Given the description of an element on the screen output the (x, y) to click on. 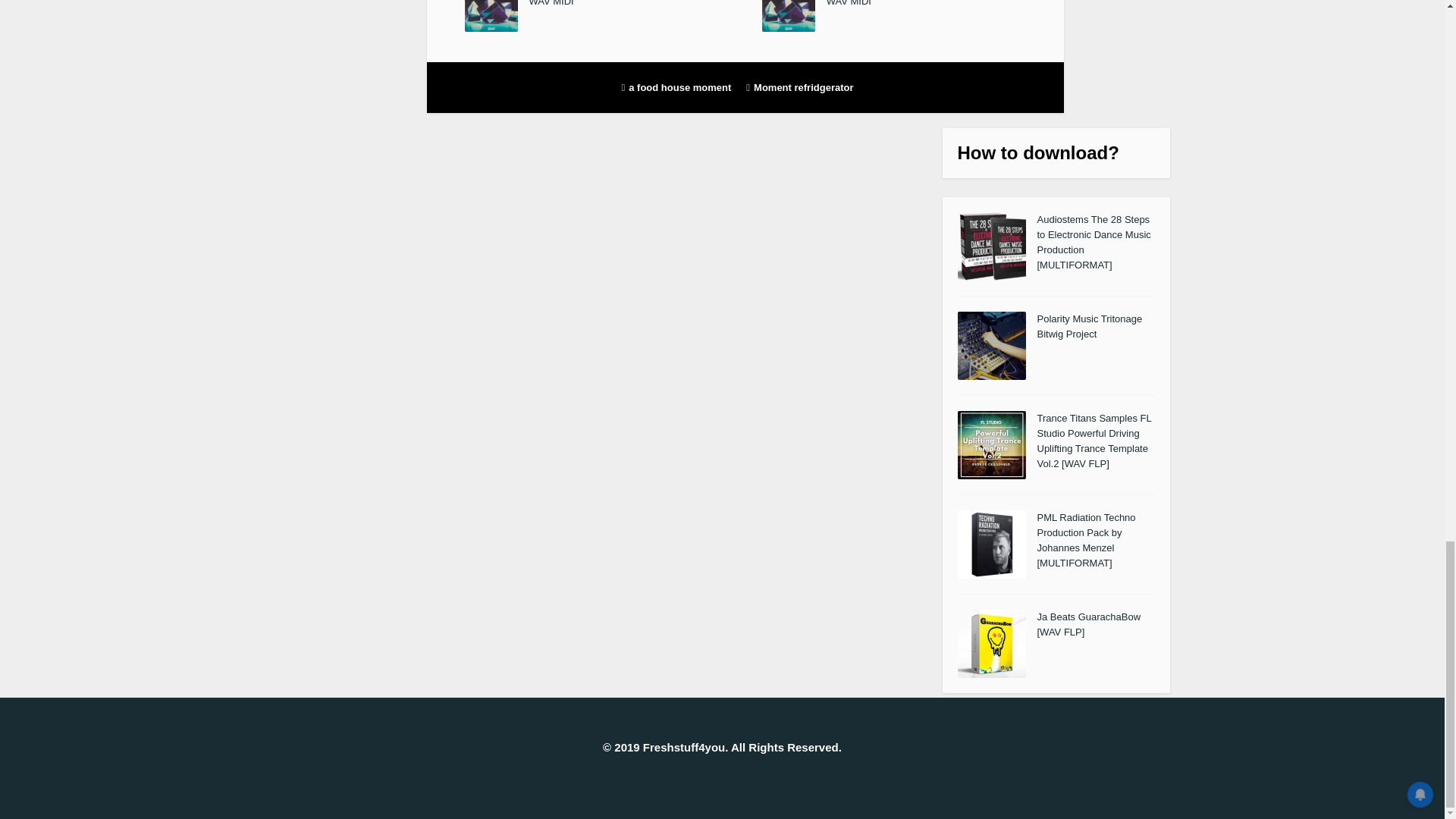
Collab Gem Hidden Gems: Heavy Hitters WAV MIDI (619, 3)
Collab Gem Hidden Gems: Heavy Hitters WAV MIDI (916, 3)
a food house moment (681, 87)
Moment refridgerator (804, 87)
How to download (1032, 152)
